Given the description of an element on the screen output the (x, y) to click on. 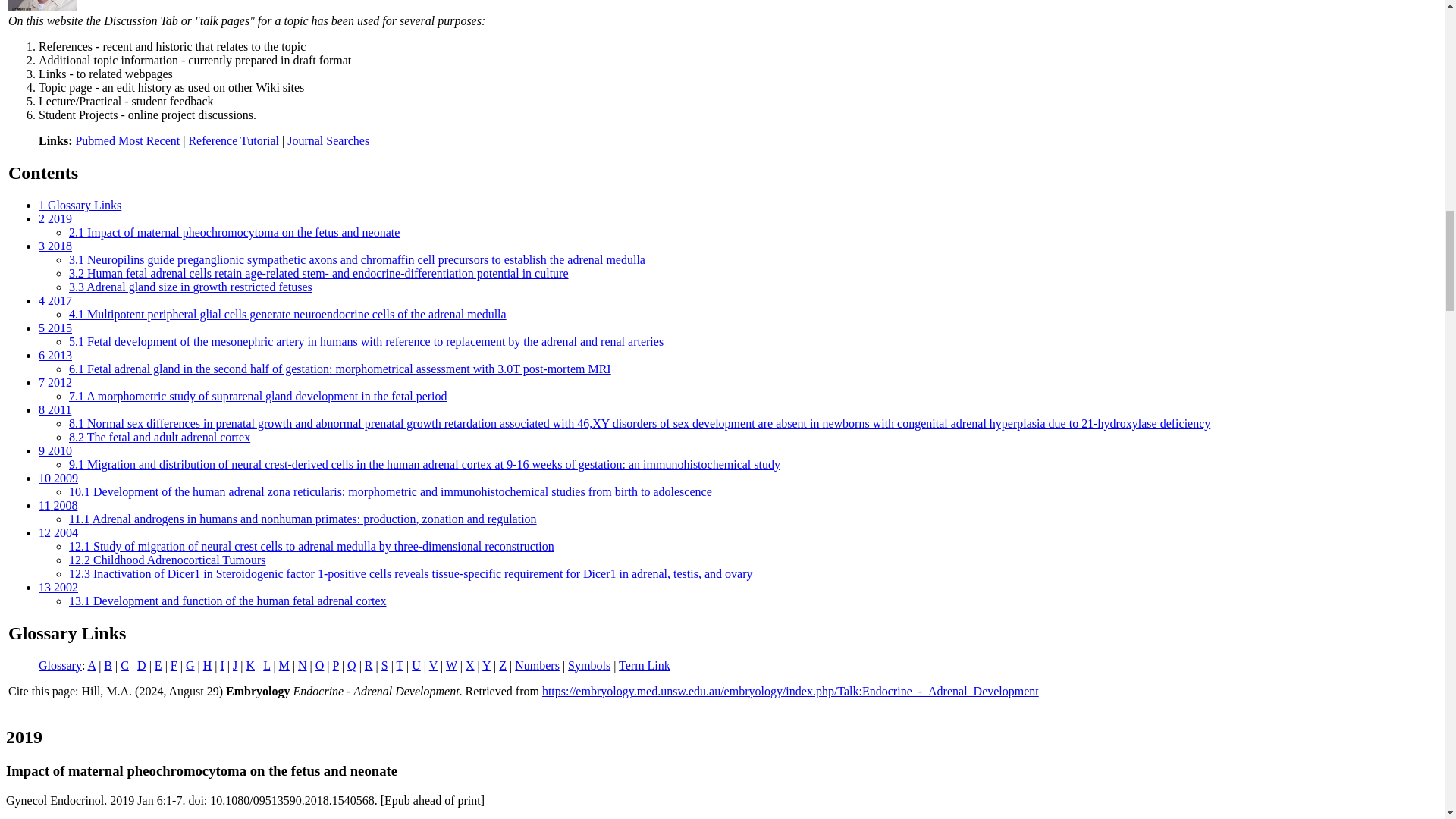
Template:Journal Searches (327, 140)
Glossary of terms (60, 664)
Help:Reference Tutorial (233, 140)
References - Pubmed Most Recent (127, 140)
